Given the description of an element on the screen output the (x, y) to click on. 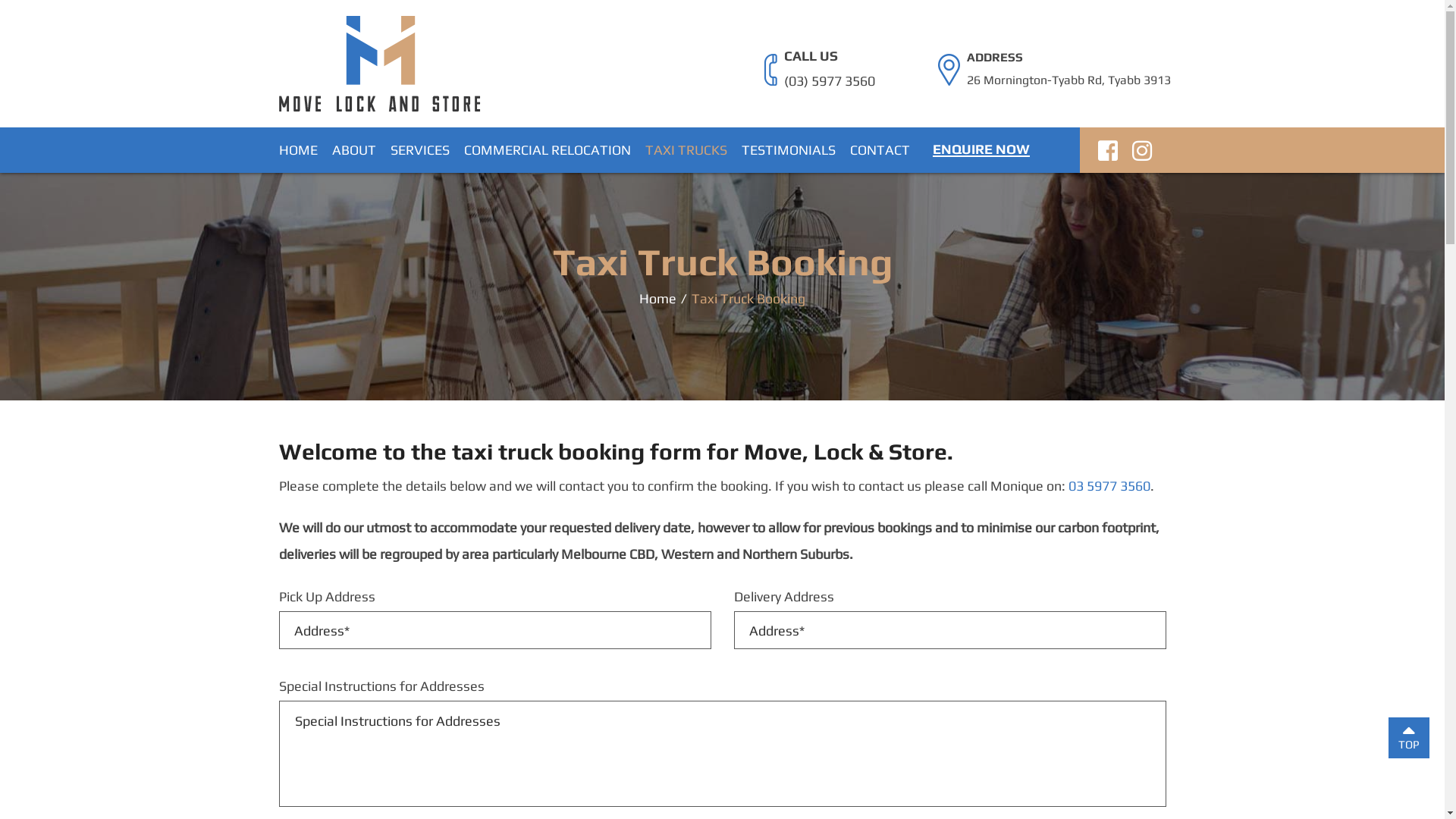
ABOUT Element type: text (354, 149)
Home Element type: text (657, 297)
03 5977 3560 Element type: text (1108, 485)
Instagram Element type: hover (1141, 154)
(03) 5977 3560 Element type: text (829, 80)
COMMERCIAL RELOCATION Element type: text (547, 149)
CONTACT Element type: text (879, 149)
Move Lock and Store Element type: hover (379, 62)
TAXI TRUCKS Element type: text (685, 149)
ENQUIRE NOW Element type: text (980, 148)
TESTIMONIALS Element type: text (788, 149)
SERVICES Element type: text (418, 149)
Facebook Element type: hover (1107, 154)
HOME Element type: text (298, 149)
